Given the description of an element on the screen output the (x, y) to click on. 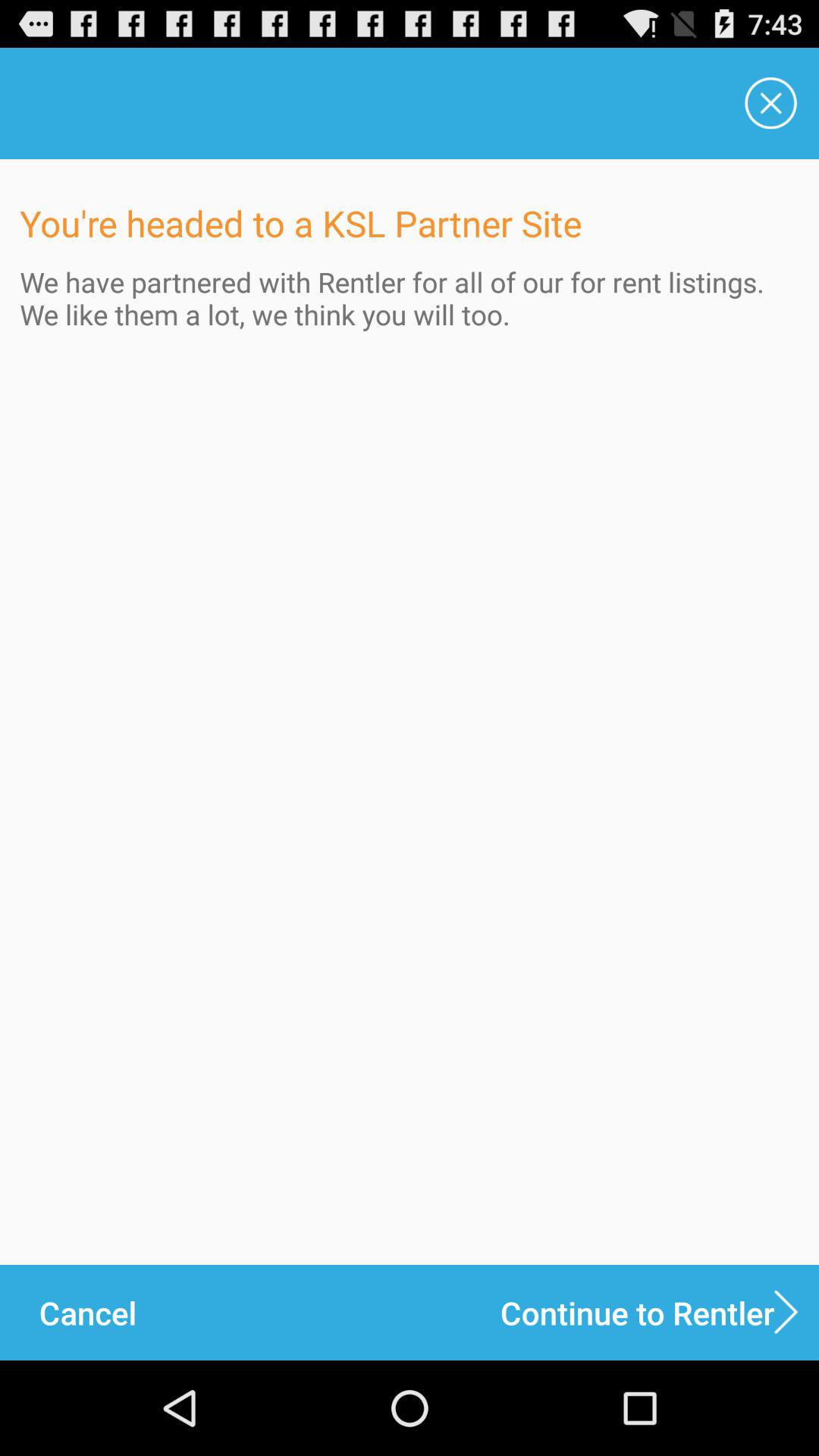
select the item above we have partnered (771, 103)
